Given the description of an element on the screen output the (x, y) to click on. 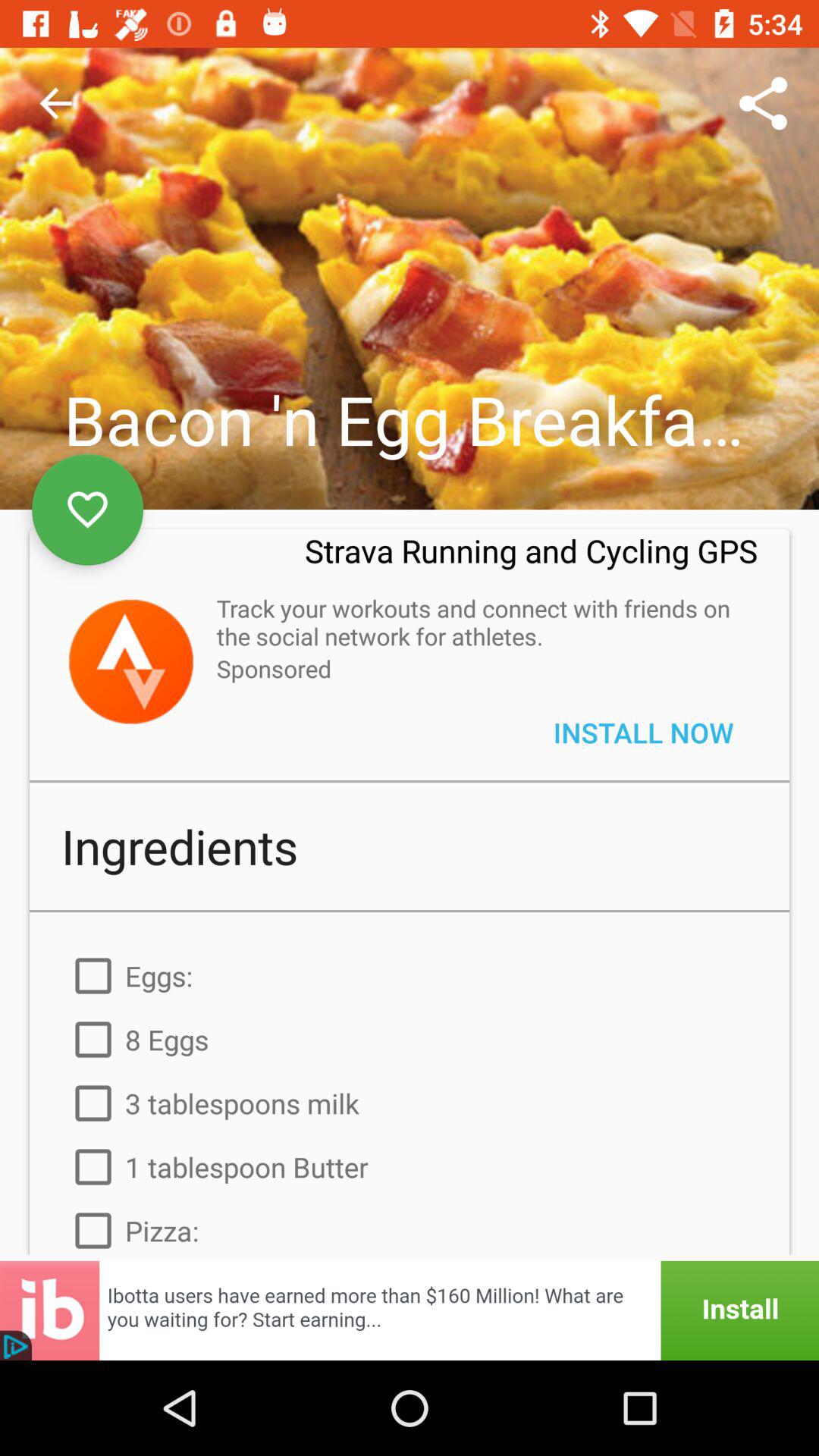
open the item below 3 tablespoons milk item (409, 1166)
